Given the description of an element on the screen output the (x, y) to click on. 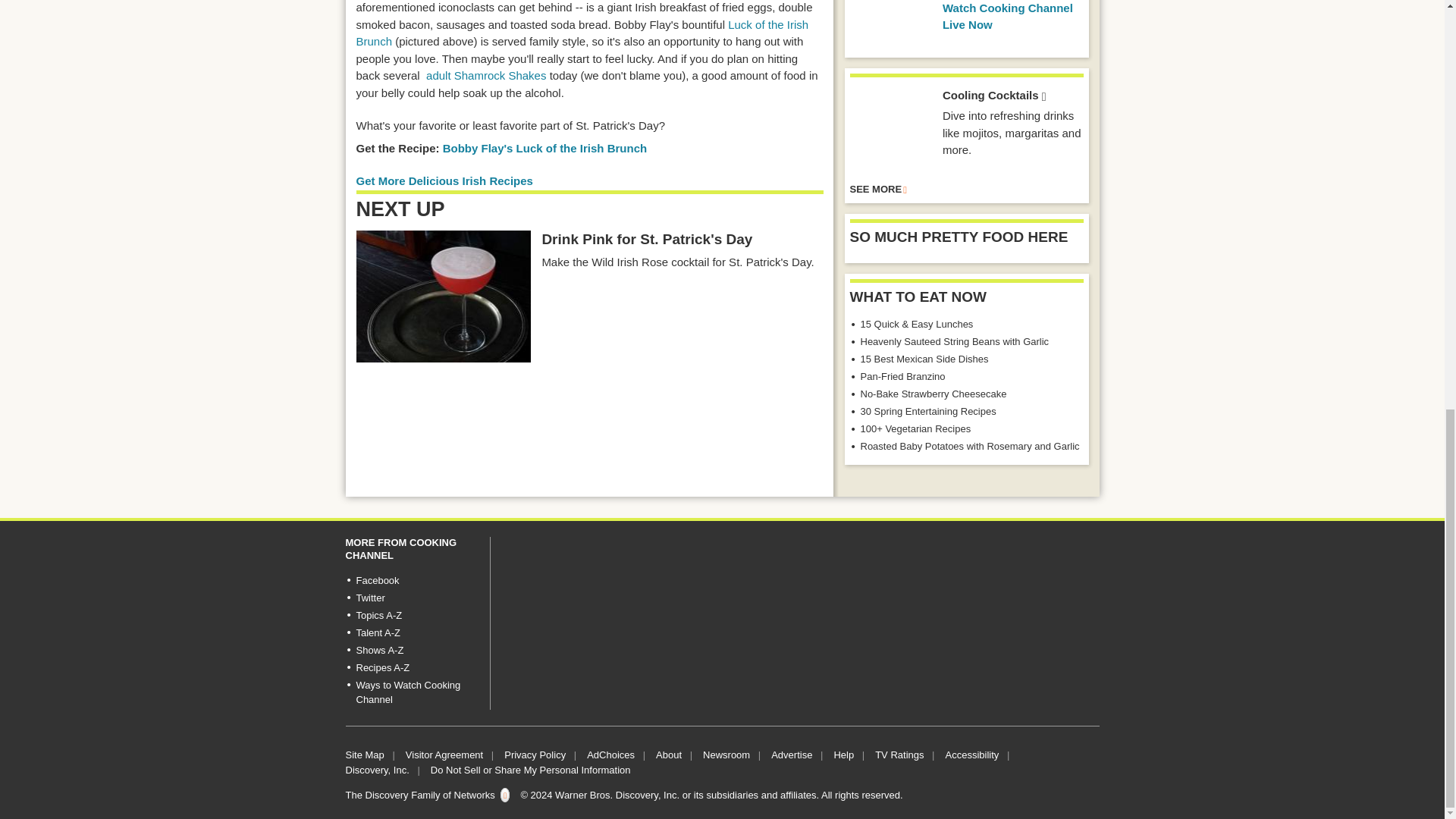
Luck of the Irish Brunch (582, 33)
Drink Pink for St. Patrick's Day (646, 239)
Cooling Cocktails (889, 128)
Bobby Flay's Luck of the Irish Brunch (544, 147)
adult Shamrock Shakes (486, 74)
Get More Delicious Irish Recipes (444, 180)
Drink Pink for St. Patrick's Day (443, 296)
